Given the description of an element on the screen output the (x, y) to click on. 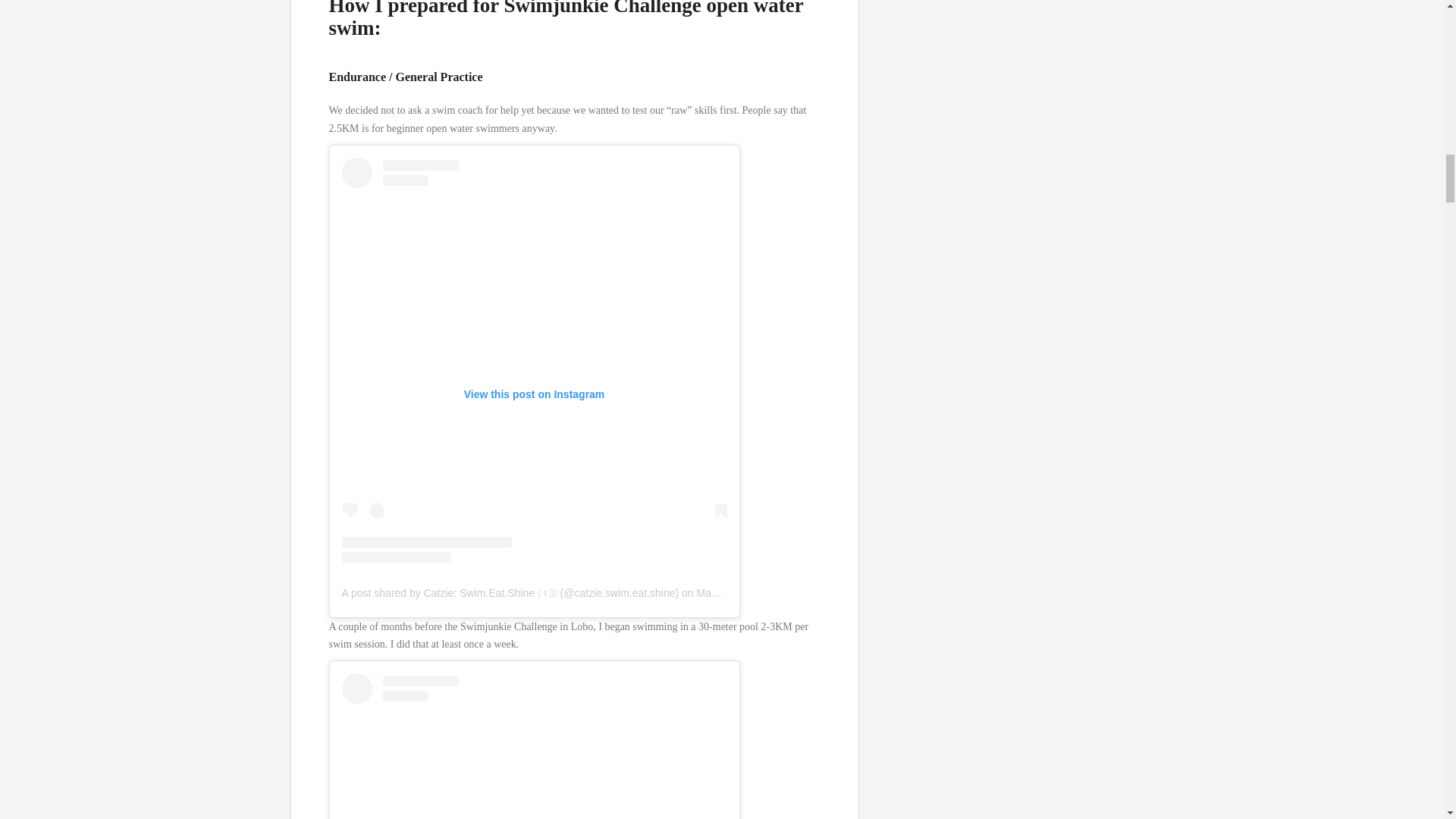
View this post on Instagram (533, 746)
